Given the description of an element on the screen output the (x, y) to click on. 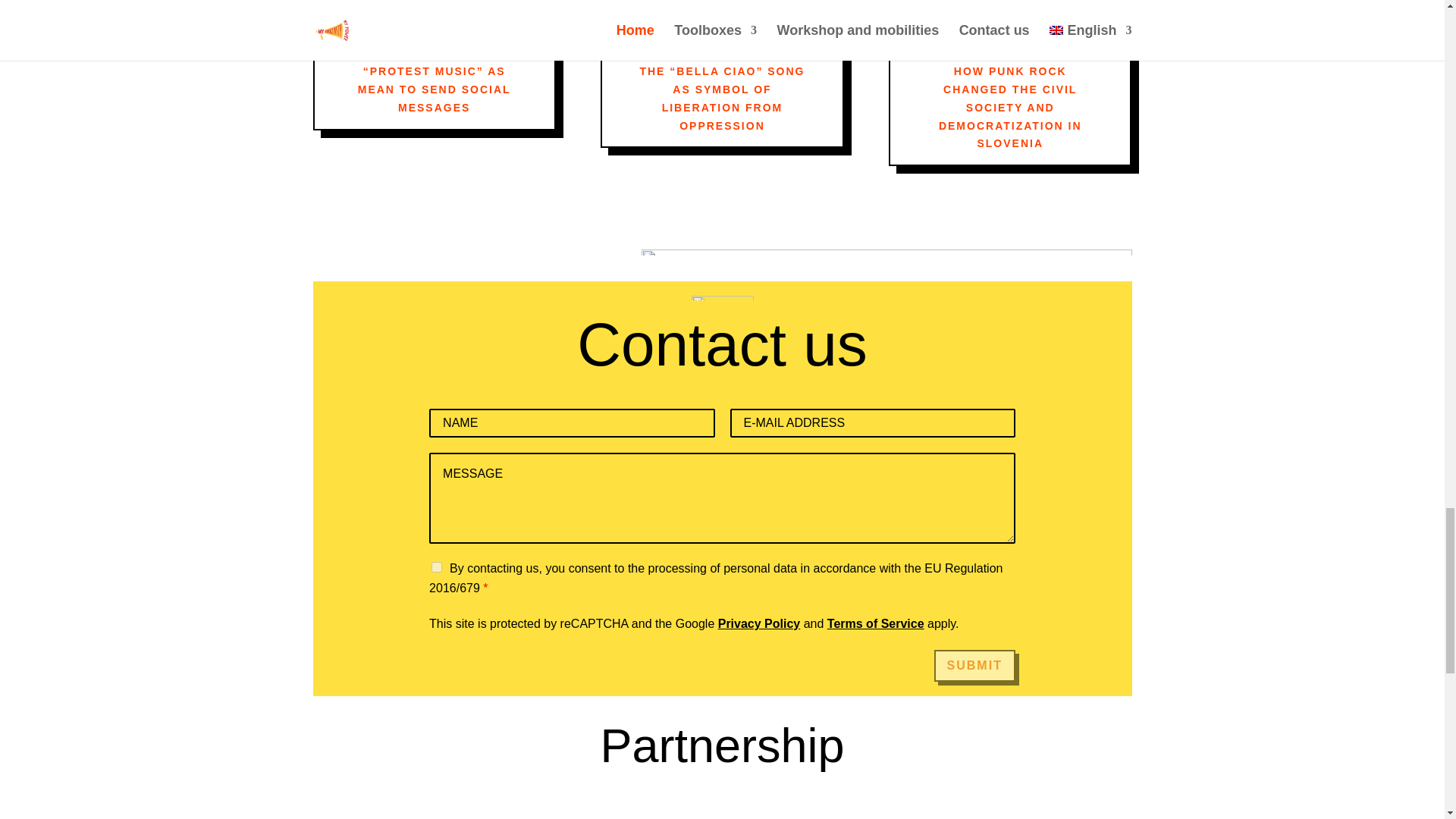
Privacy Policy (758, 623)
SUBMIT (974, 665)
Terms of Service (875, 623)
freelance-writer-07 (722, 297)
freelance-writer-05 (887, 252)
